Given the description of an element on the screen output the (x, y) to click on. 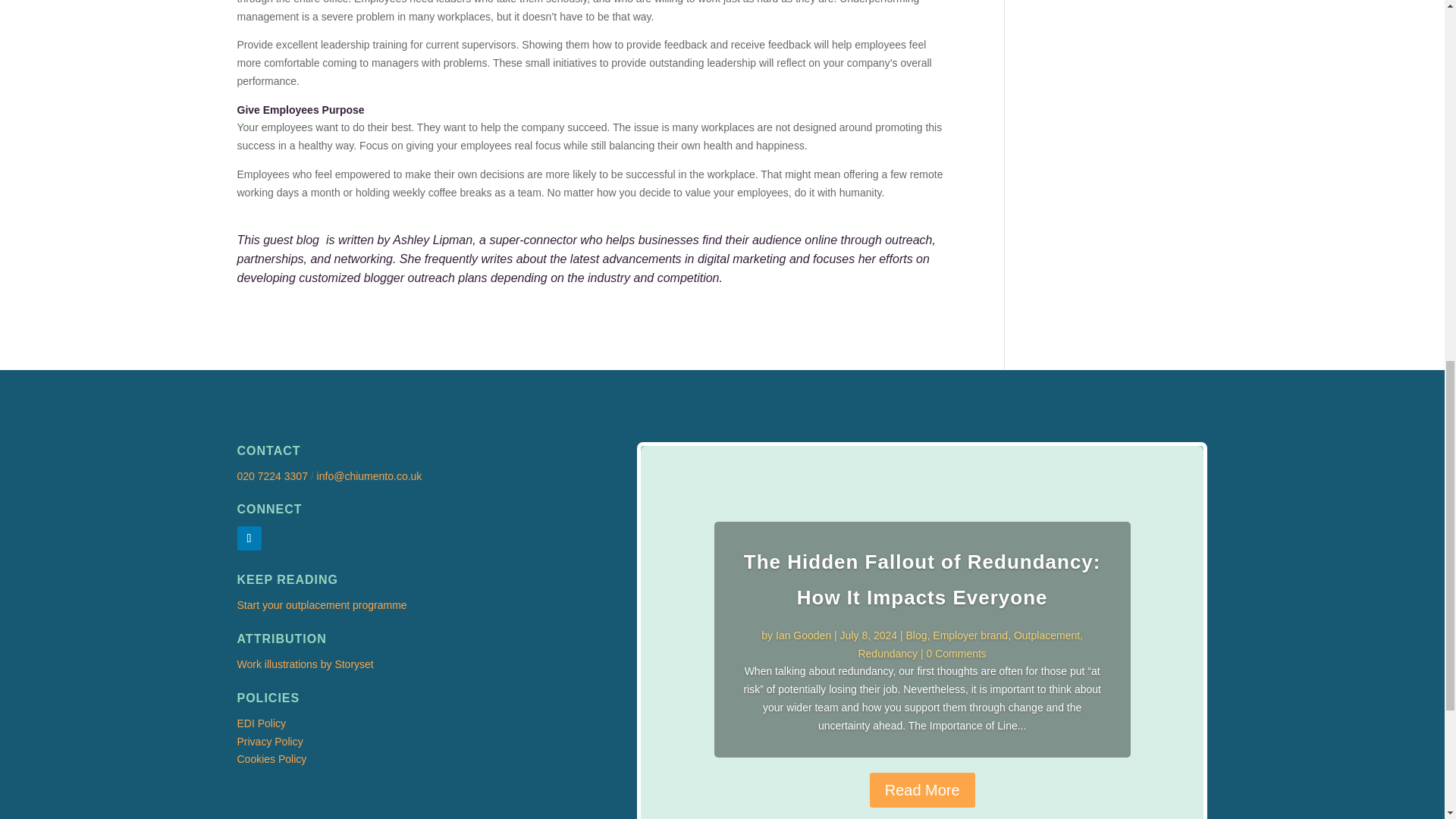
020 7224 3307 (271, 476)
Work illustrations by Storyset (303, 664)
Posts by Ian Gooden (803, 635)
Follow on LinkedIn (247, 538)
Ian Gooden (803, 635)
The Hidden Fallout of Redundancy: How It Impacts Everyone (922, 579)
